Given the description of an element on the screen output the (x, y) to click on. 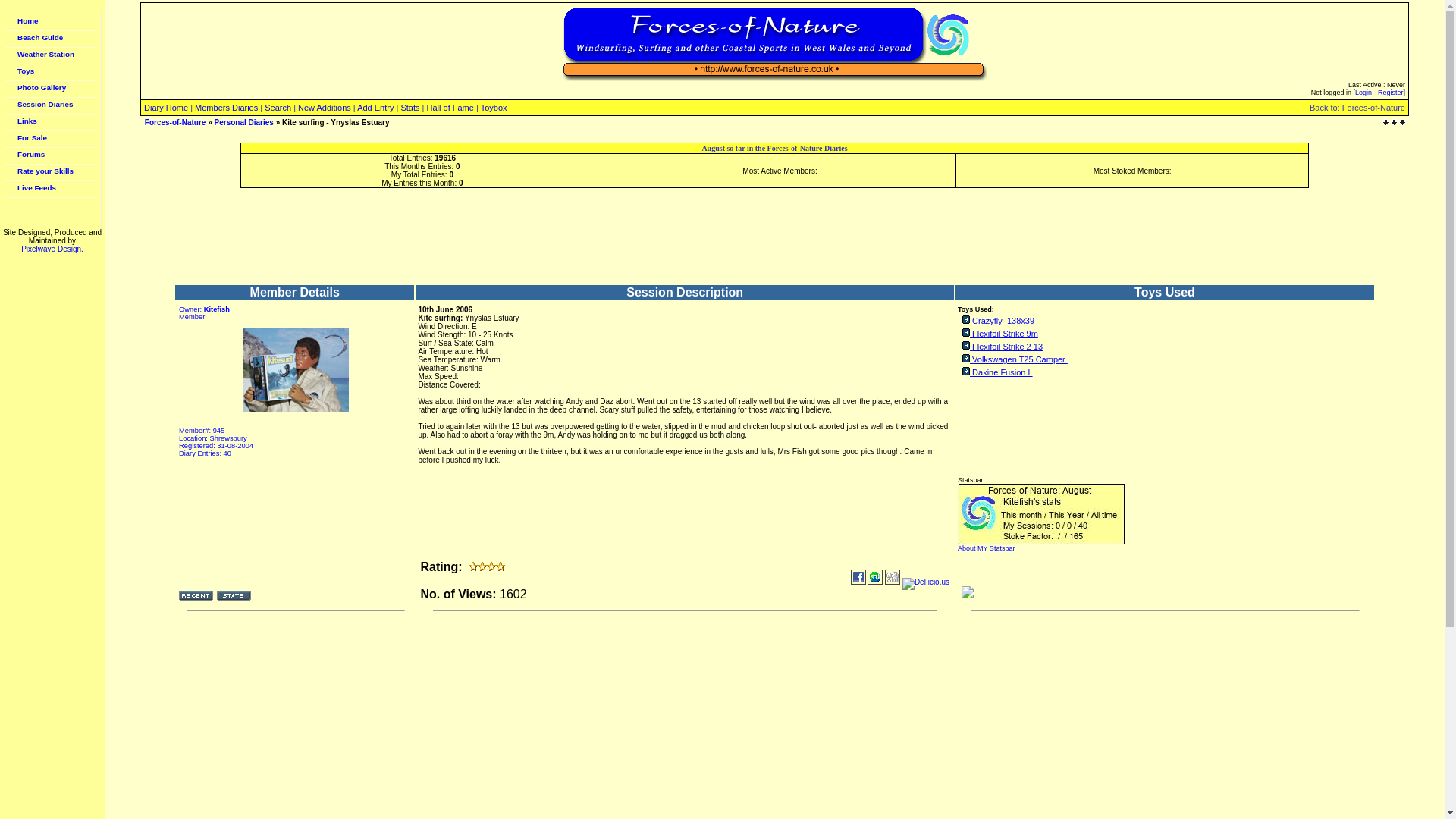
Search (277, 107)
For Sale (51, 139)
Flexifoil Strike 2 13 (1007, 346)
Hall of Fame (450, 107)
Live Feeds (51, 189)
Add Entry (374, 107)
My Statsbar (986, 548)
Members Diaries (226, 107)
New Additions (324, 107)
Del.icio.us (925, 583)
Back to: Forces-of-Nature (1356, 106)
Forums (51, 156)
Crazyfly  138x39 (1002, 320)
Flexifoil Strike 9m (1005, 333)
Personal Diaries (243, 121)
